Given the description of an element on the screen output the (x, y) to click on. 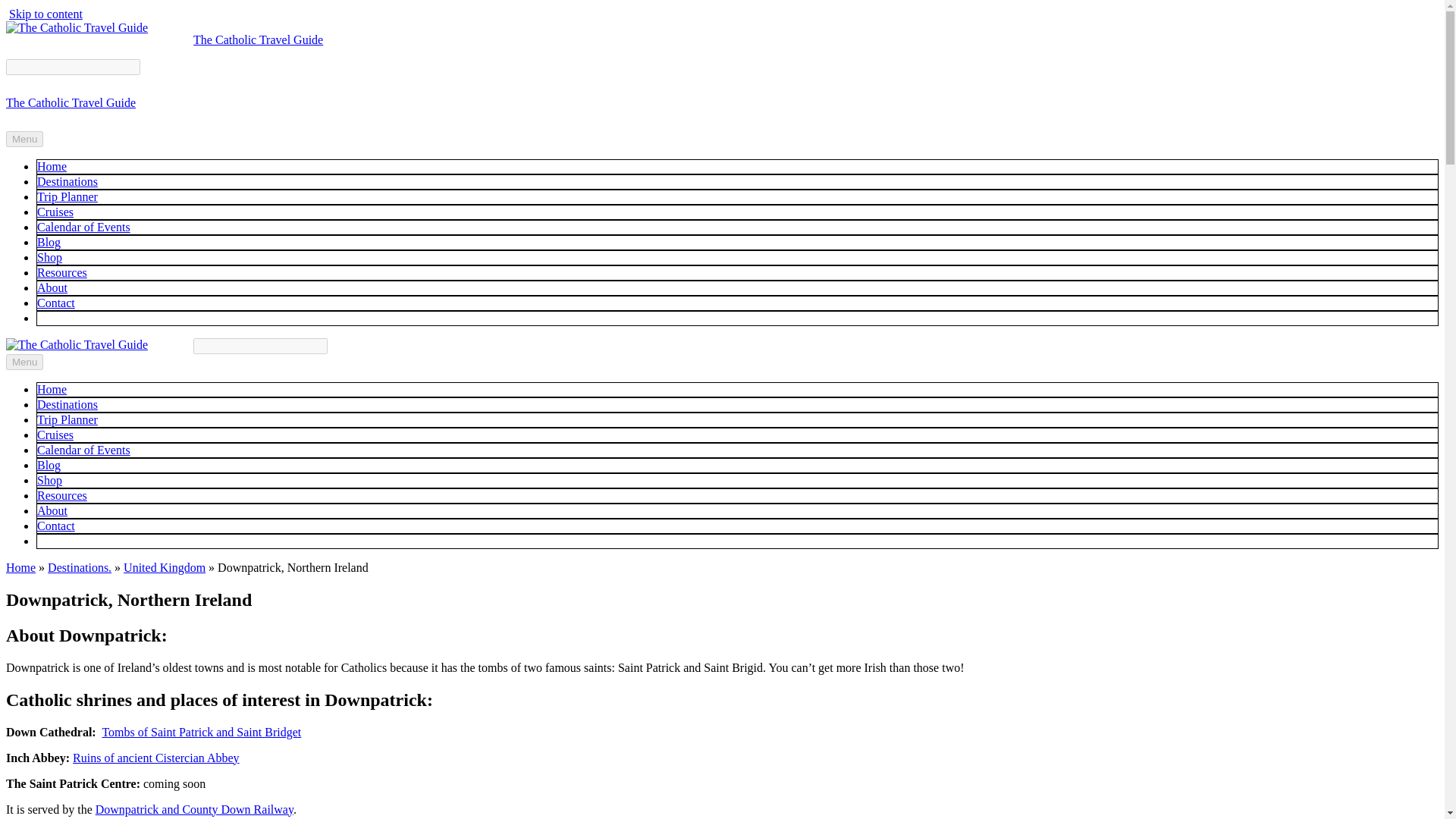
Calendar of Events (84, 449)
About (51, 287)
Contact (56, 302)
Tombs of Saint Patrick and Saint Bridget (201, 731)
The Catholic Travel Guide (258, 39)
Downpatrick and County Down Railway (195, 809)
Search (260, 345)
Destinations (67, 181)
Ruins of ancient Cistercian Abbey (156, 757)
Cruises (55, 211)
Skip to content (45, 13)
Resources (62, 495)
Skip to content (45, 13)
Blog (49, 241)
Trip Planner (67, 419)
